Given the description of an element on the screen output the (x, y) to click on. 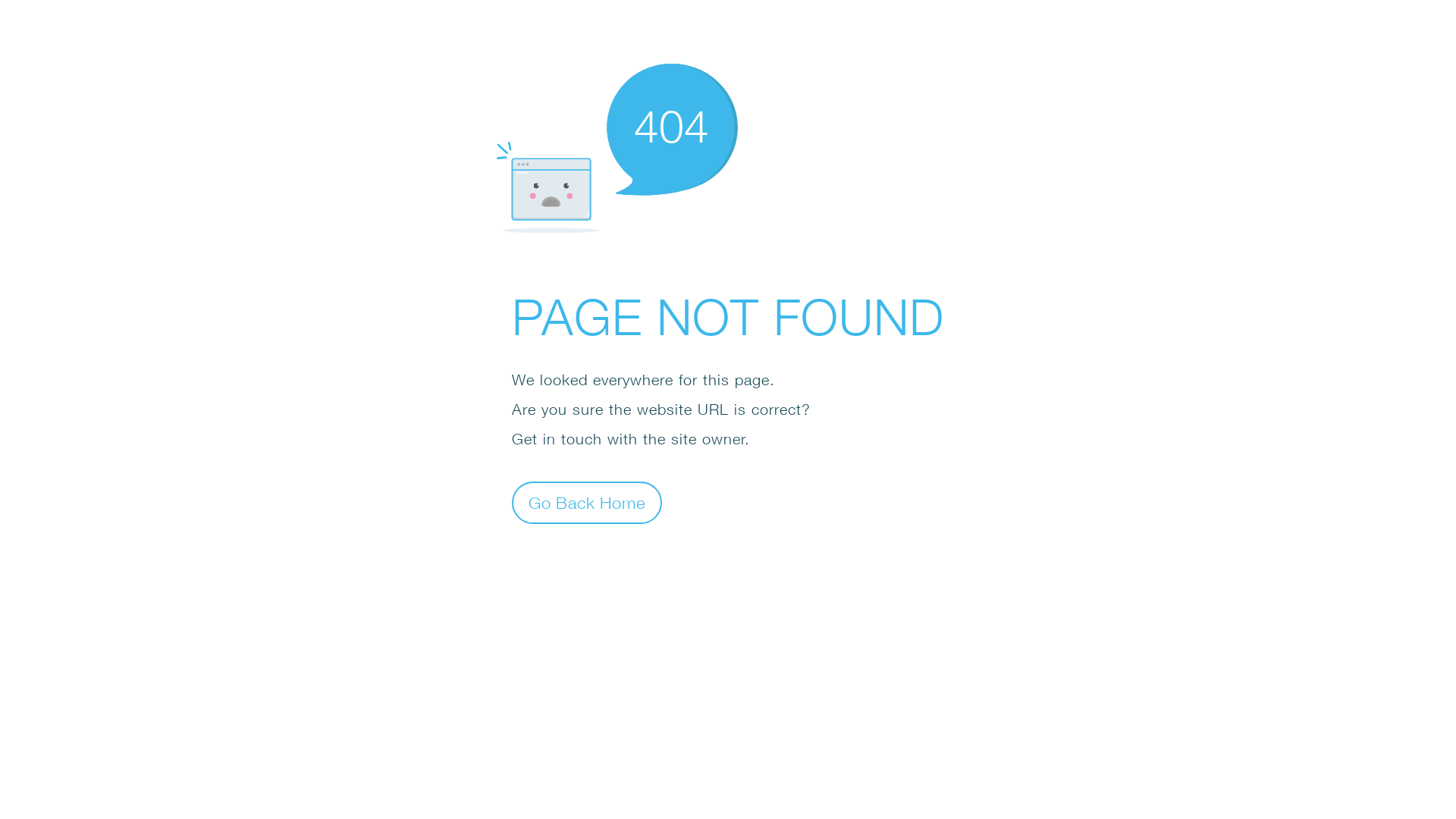
Go Back Home Element type: text (586, 502)
